Given the description of an element on the screen output the (x, y) to click on. 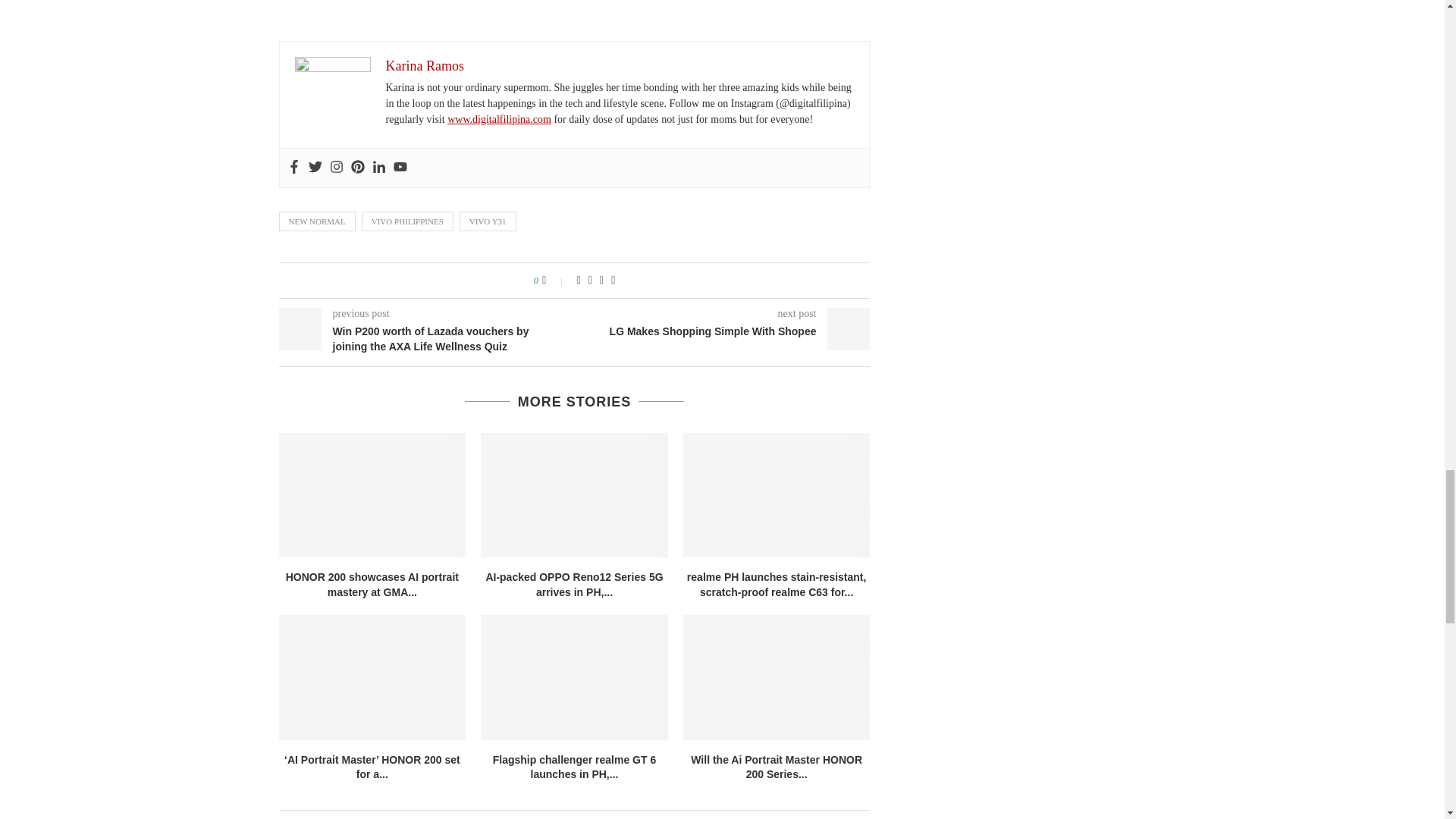
Like (553, 280)
HONOR 200 showcases AI portrait mastery at GMA Gala 2024 (372, 495)
